Given the description of an element on the screen output the (x, y) to click on. 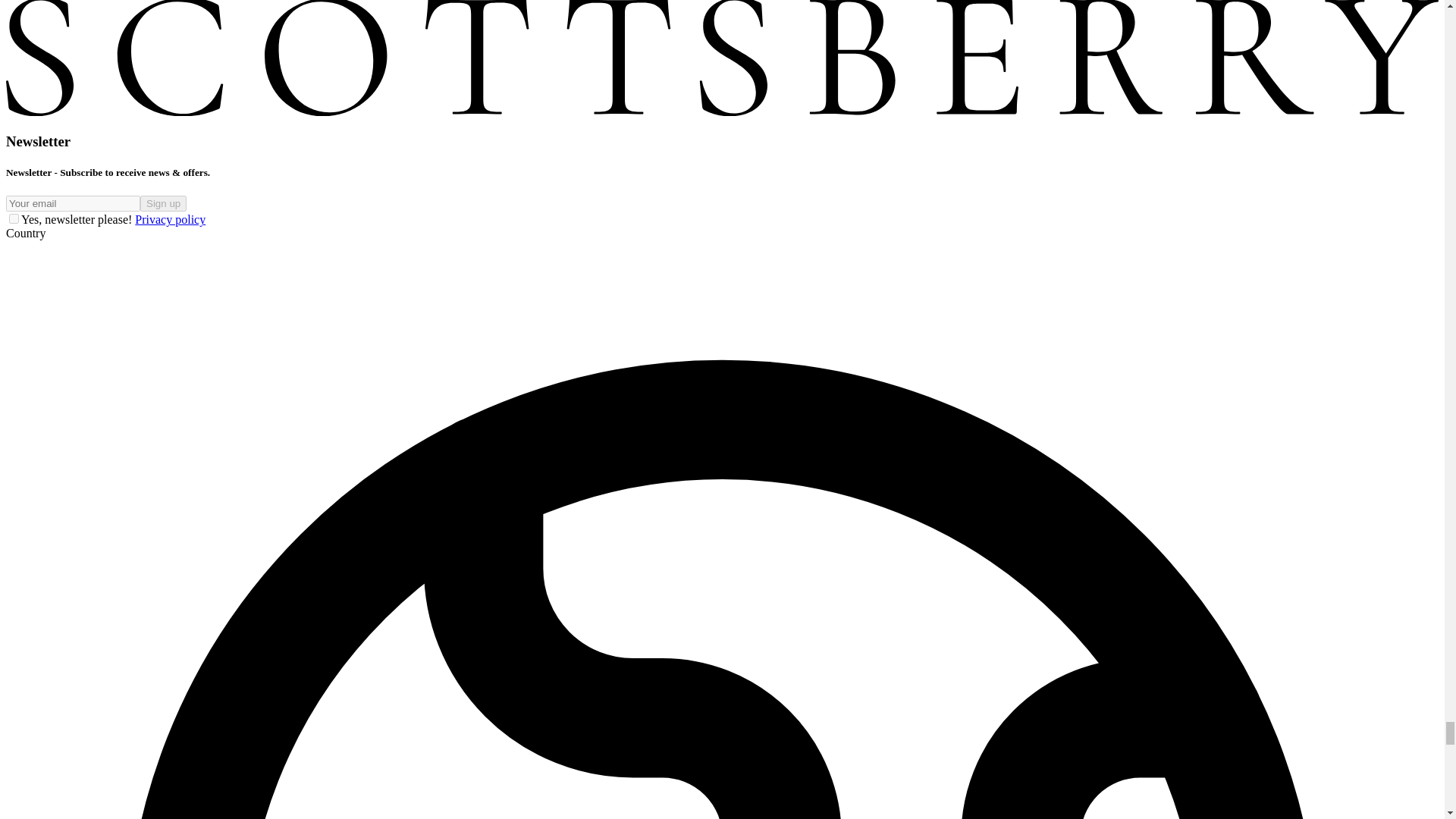
on (13, 218)
